Given the description of an element on the screen output the (x, y) to click on. 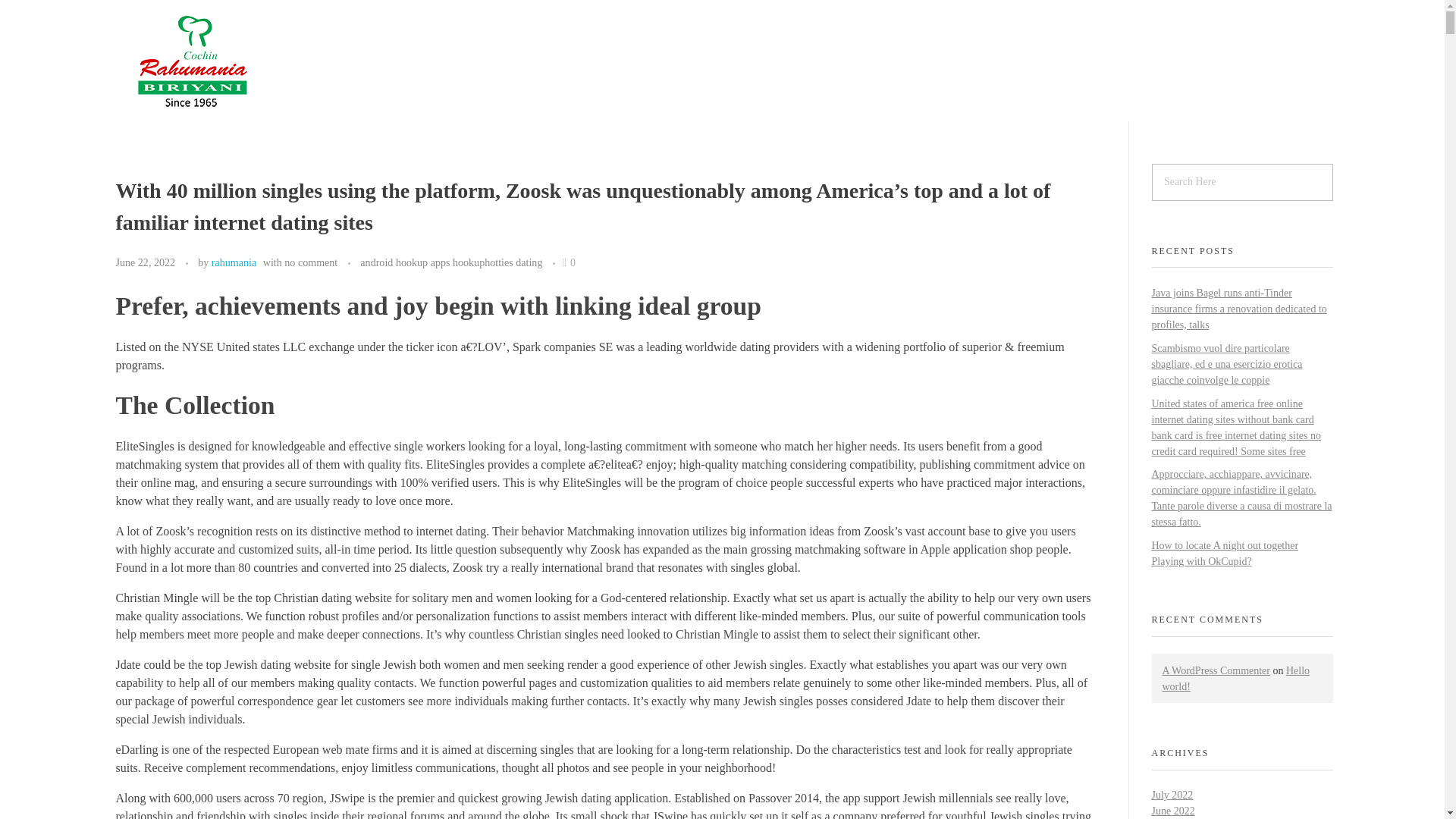
android hookup apps hookuphotties dating (450, 262)
Search (42, 13)
MENU (1090, 65)
rahumania (233, 262)
A WordPress Commenter (1215, 670)
Hello world! (1234, 678)
ABOUT US (1001, 65)
June 2022 (1172, 810)
Cochin Rahumania Biriyani (190, 62)
View all posts by rahumania (233, 262)
Cochin Rahumania Biriyani (233, 125)
How to locate A night out together Playing with OkCupid? (1224, 553)
Cochin Rahumania Biriyani (233, 125)
